Given the description of an element on the screen output the (x, y) to click on. 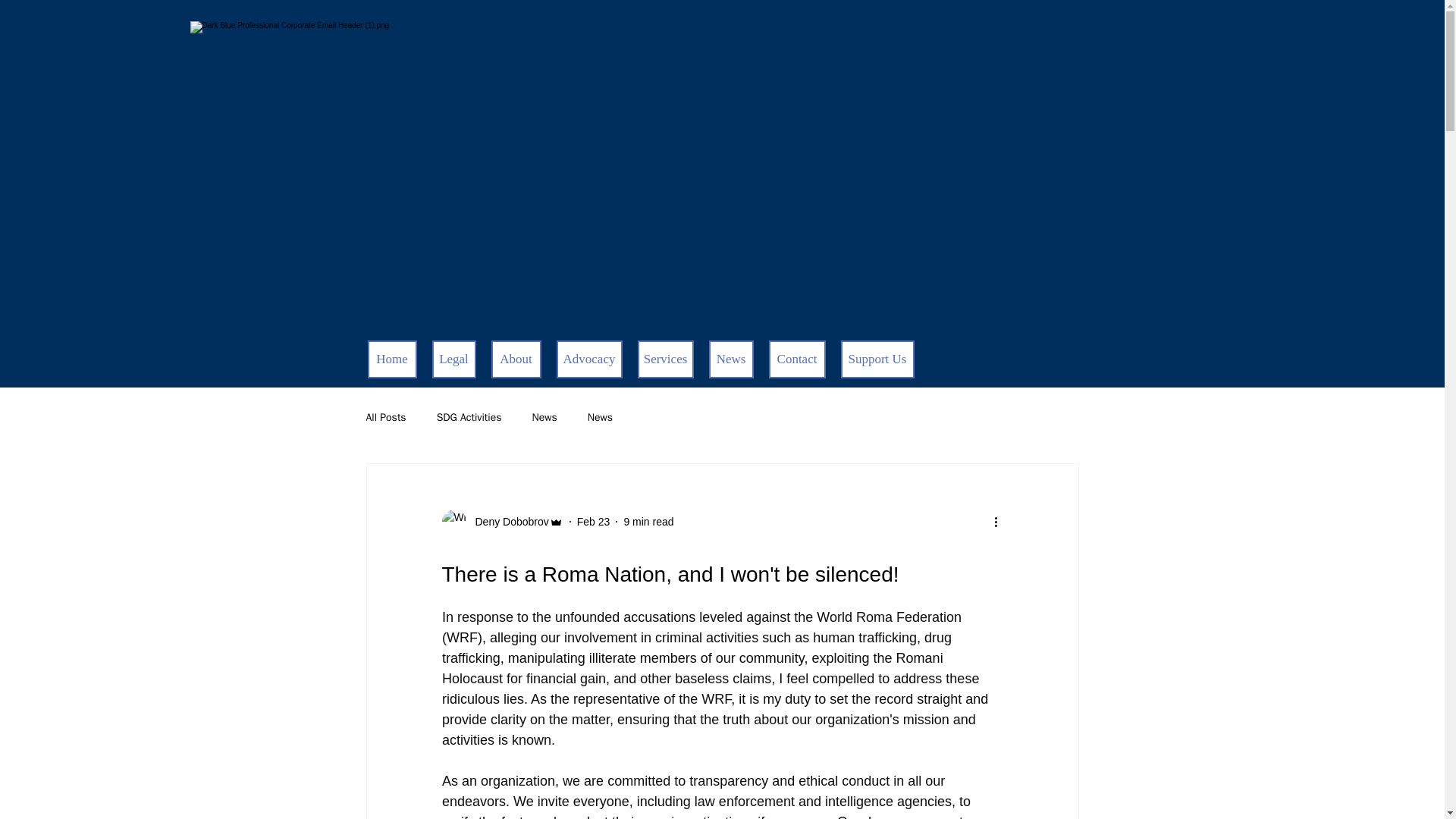
Support Us (877, 359)
Services (665, 359)
News (600, 418)
SDG Activities (469, 418)
Deny Dobobrov (501, 521)
Contact (796, 359)
9 min read (647, 521)
Home (391, 359)
Feb 23 (593, 521)
News (729, 359)
News (543, 418)
All Posts (385, 418)
Advocacy (589, 359)
Legal (454, 359)
About (516, 359)
